Given the description of an element on the screen output the (x, y) to click on. 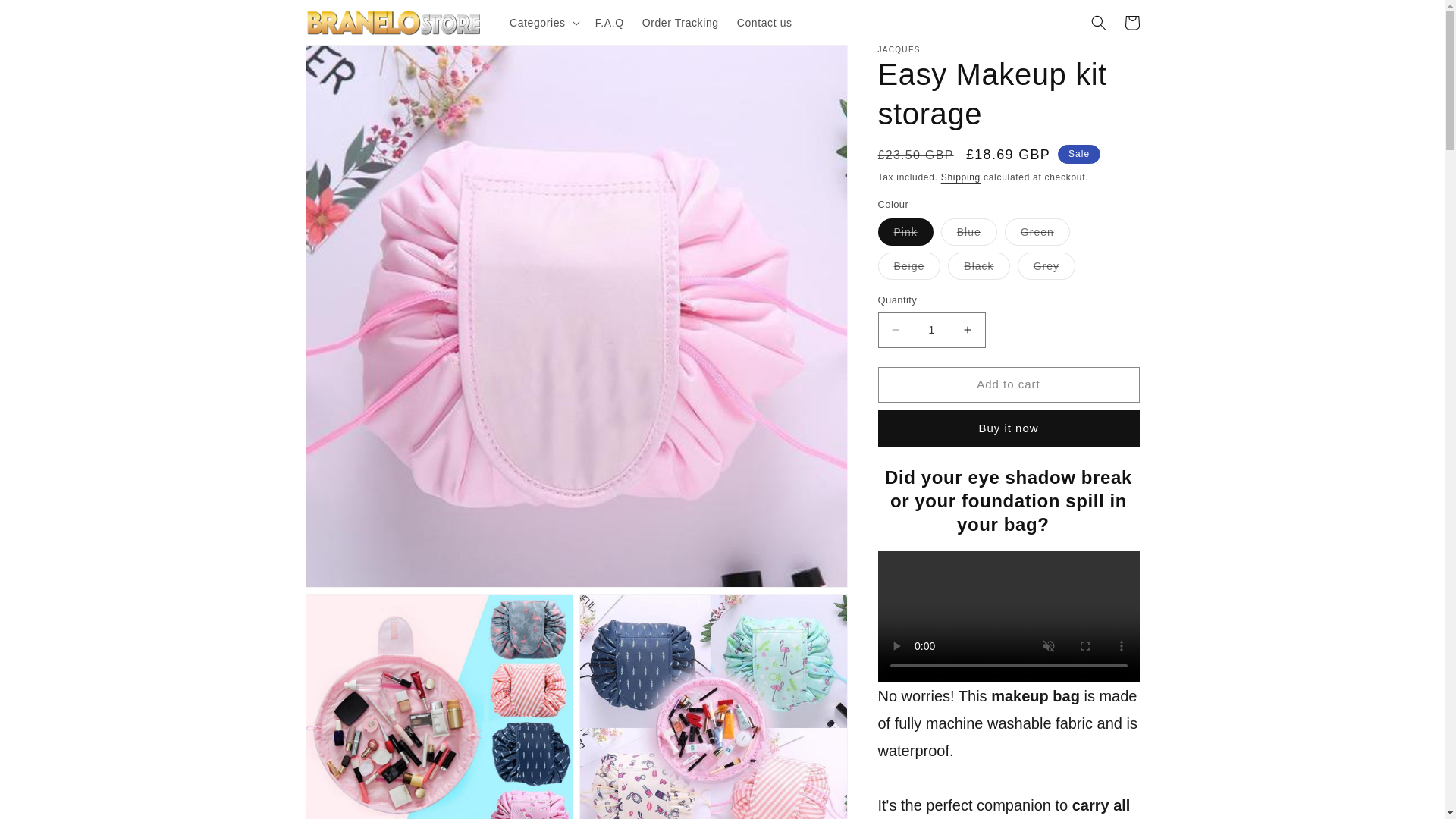
1 (931, 330)
Skip to product information (350, 62)
Cart (1131, 22)
Skip to content (45, 17)
Contact us (765, 22)
Order Tracking (680, 22)
F.A.Q (609, 22)
